Given the description of an element on the screen output the (x, y) to click on. 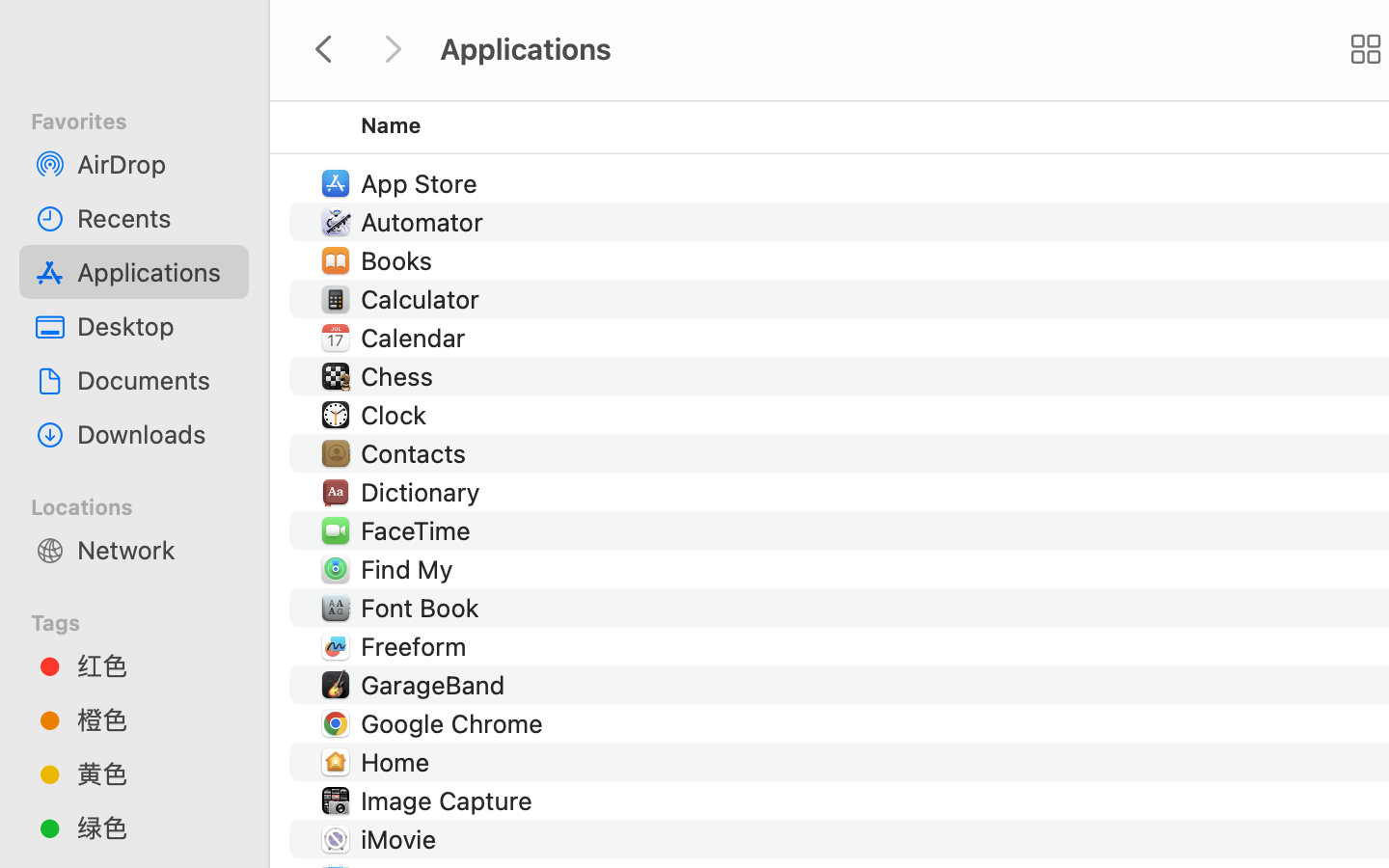
黄色 Element type: AXStaticText (155, 773)
橙色 Element type: AXStaticText (155, 719)
Freeform Element type: AXTextField (417, 645)
App Store Element type: AXTextField (423, 182)
Applications Element type: AXStaticText (155, 271)
